Given the description of an element on the screen output the (x, y) to click on. 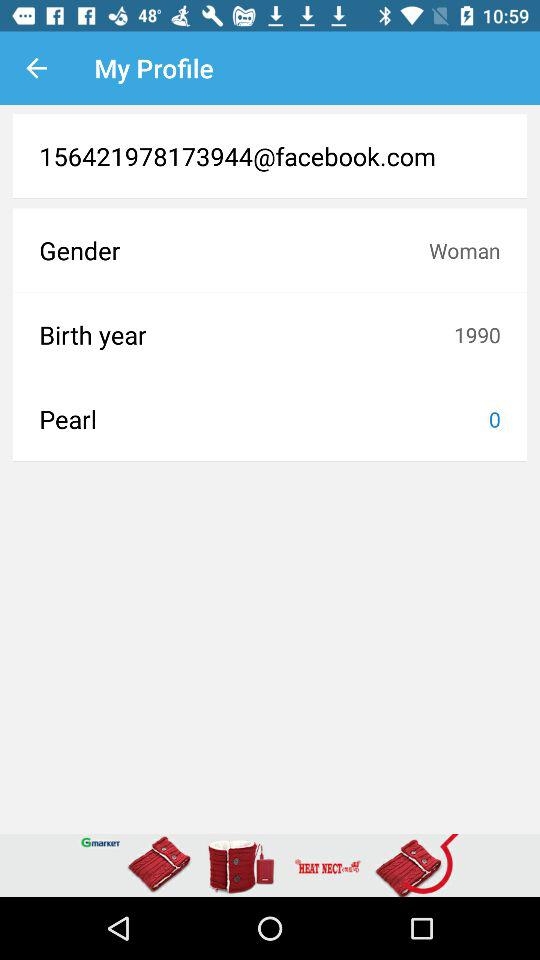
swipe to the 0 (494, 419)
